Given the description of an element on the screen output the (x, y) to click on. 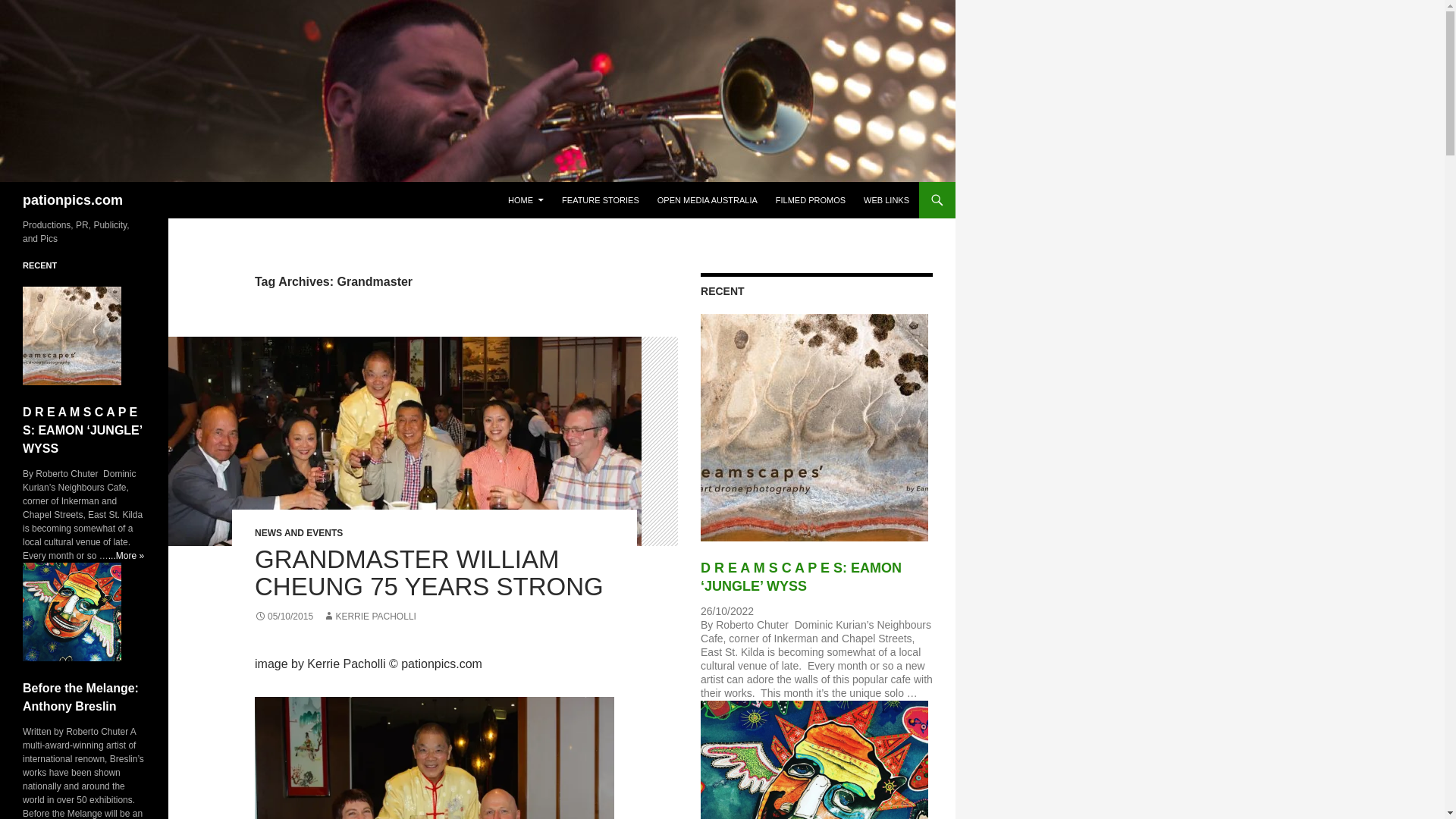
FILMED PROMOS (810, 199)
Permalink to Before the Melange: Anthony Breslin (80, 696)
pationpics.com (72, 199)
KERRIE PACHOLLI (368, 615)
HOME (526, 199)
GRANDMASTER WILLIAM CHEUNG 75 YEARS STRONG (429, 572)
NEWS AND EVENTS (298, 532)
OPEN MEDIA AUSTRALIA (707, 199)
